Given the description of an element on the screen output the (x, y) to click on. 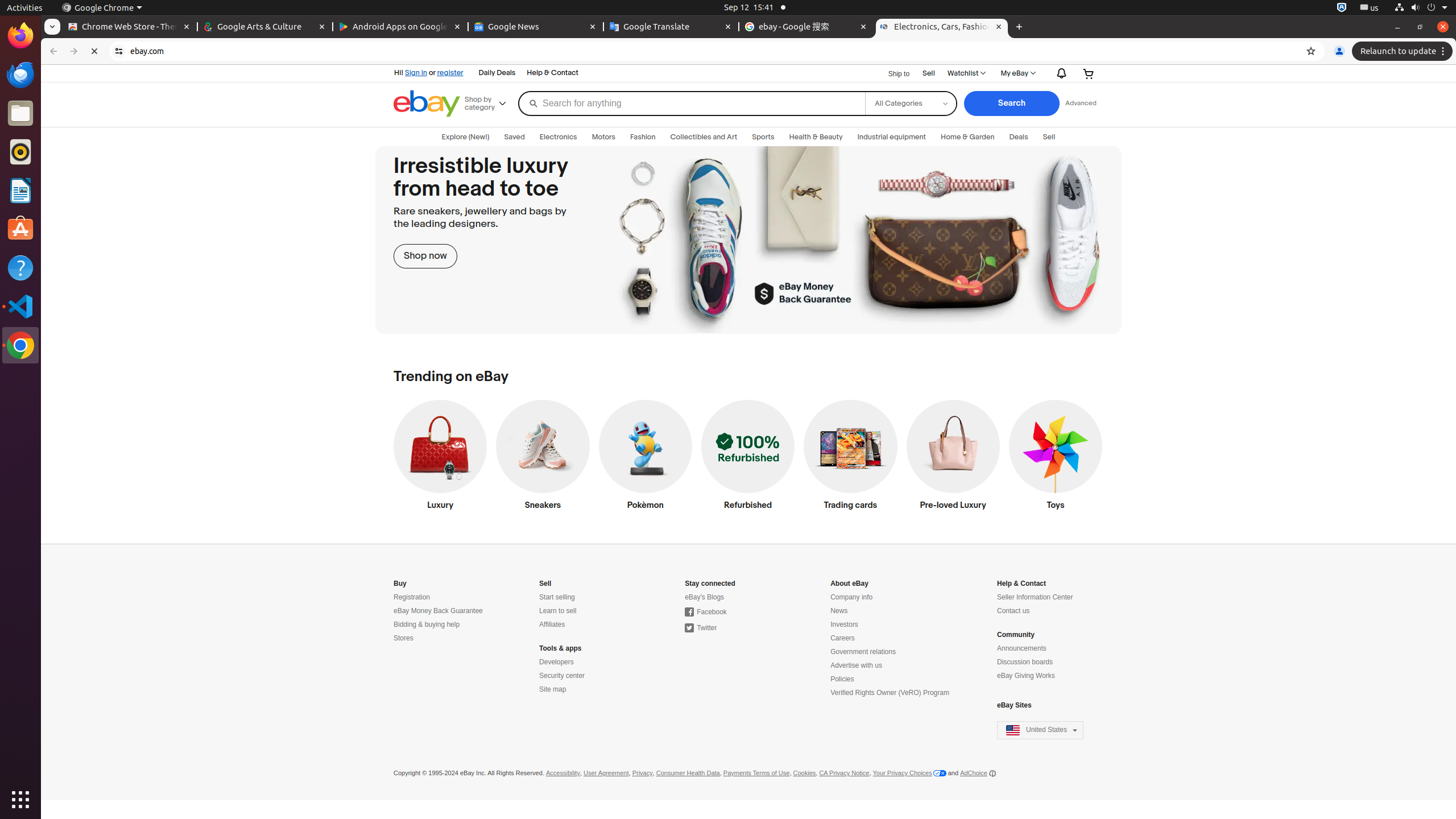
Pokèmon Element type: link (645, 457)
Refurbished Element type: link (747, 457)
All Categories Element type: menu-item (910, 103)
You Element type: push-button (1339, 50)
Discussion boards Element type: link (1025, 662)
